Given the description of an element on the screen output the (x, y) to click on. 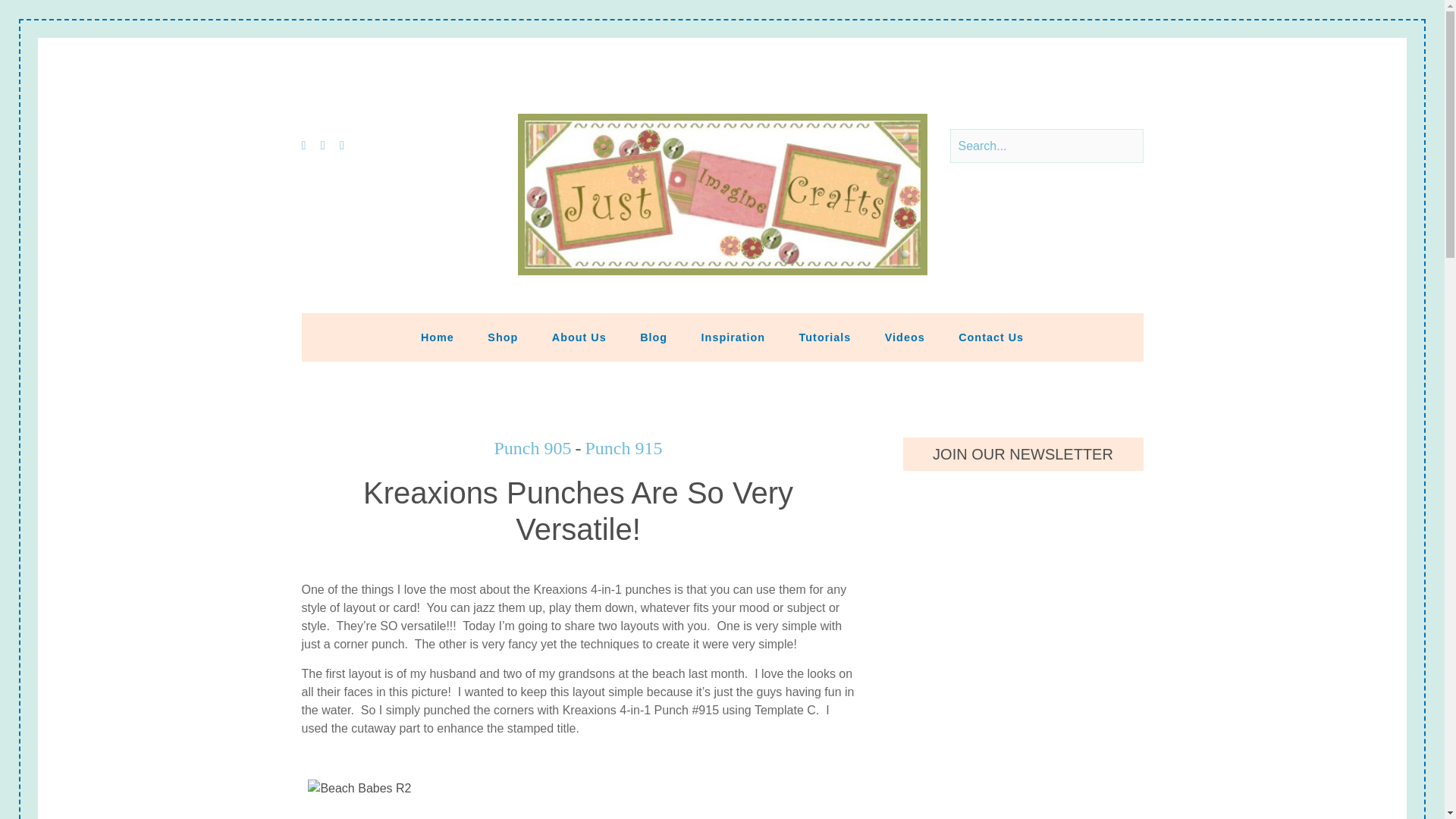
Blog (653, 336)
Home (437, 336)
Shop (501, 336)
Inspiration (732, 336)
Punch 915 (623, 448)
Contact Us (991, 336)
Tutorials (825, 336)
Beach Babes R2 (358, 788)
About Us (579, 336)
Punch 905- (540, 448)
Videos (904, 336)
